Given the description of an element on the screen output the (x, y) to click on. 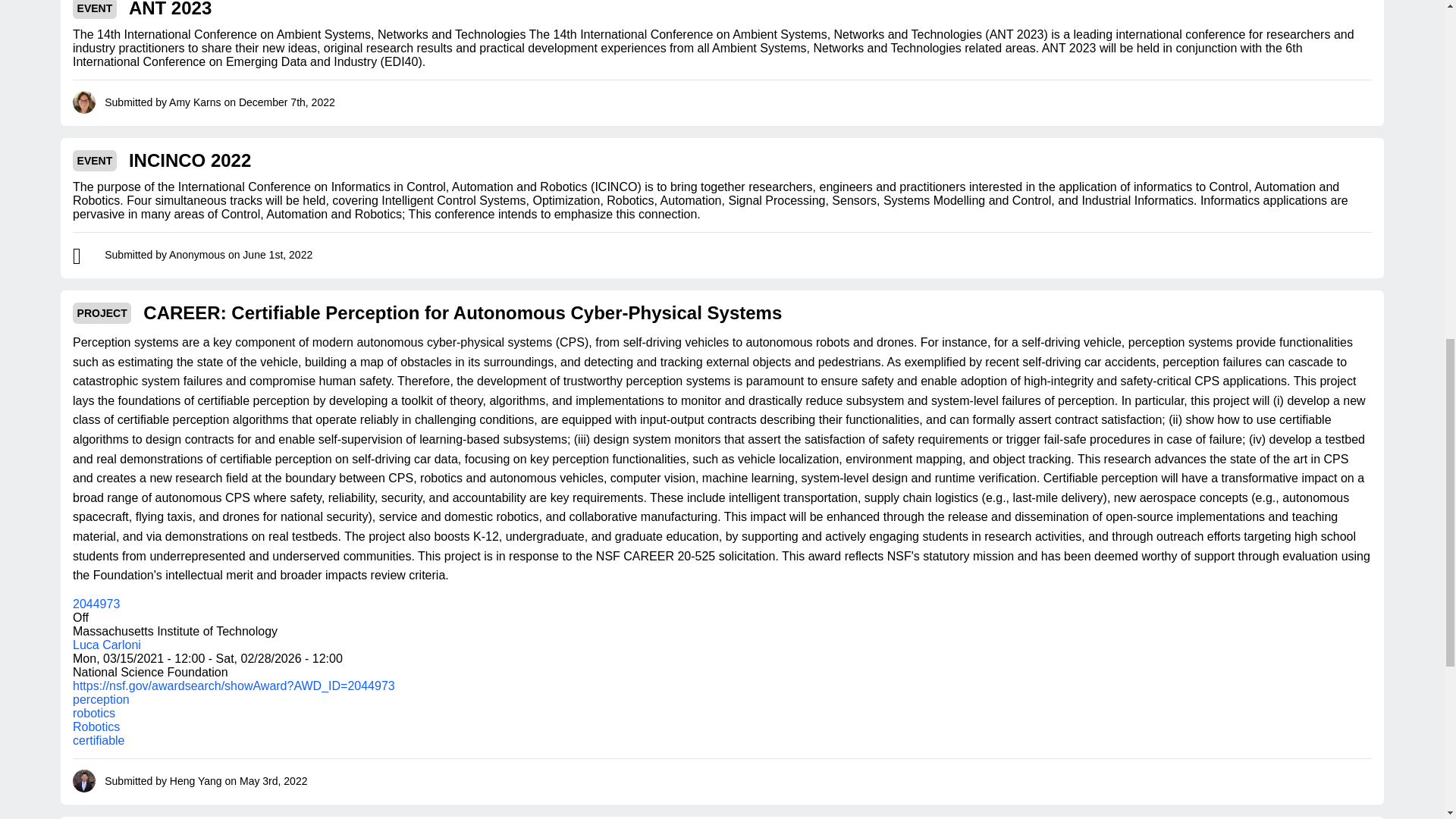
ANT 2023 (170, 9)
perception (100, 698)
certifiable (97, 739)
2044973 (95, 603)
Robotics (95, 726)
INCINCO 2022 (189, 160)
Luca Carloni (106, 644)
robotics (93, 712)
